Given the description of an element on the screen output the (x, y) to click on. 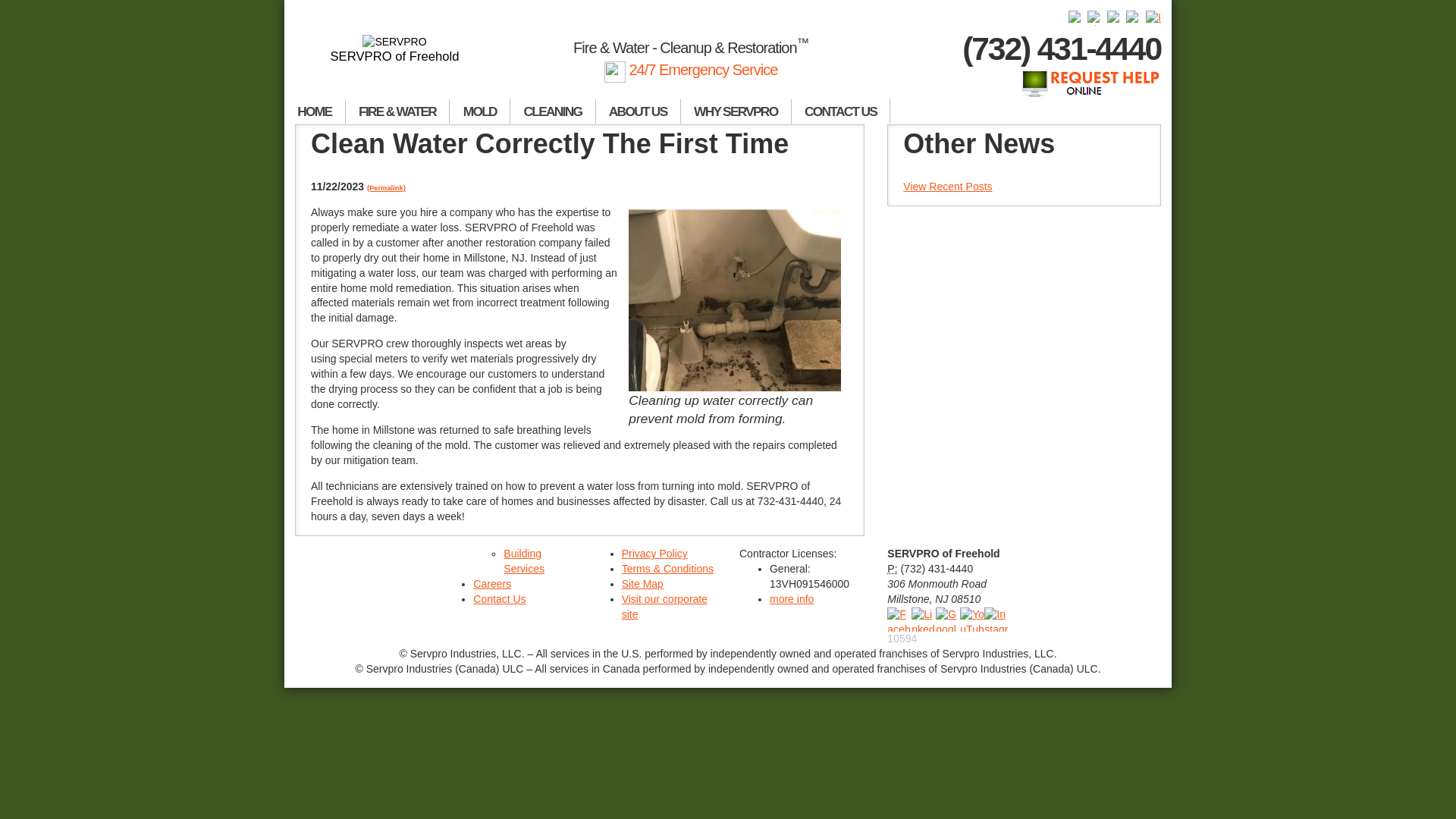
HOME (314, 111)
SERVPRO of Freehold (395, 49)
ABOUT US (638, 111)
CLEANING (553, 111)
MOLD (480, 111)
